Given the description of an element on the screen output the (x, y) to click on. 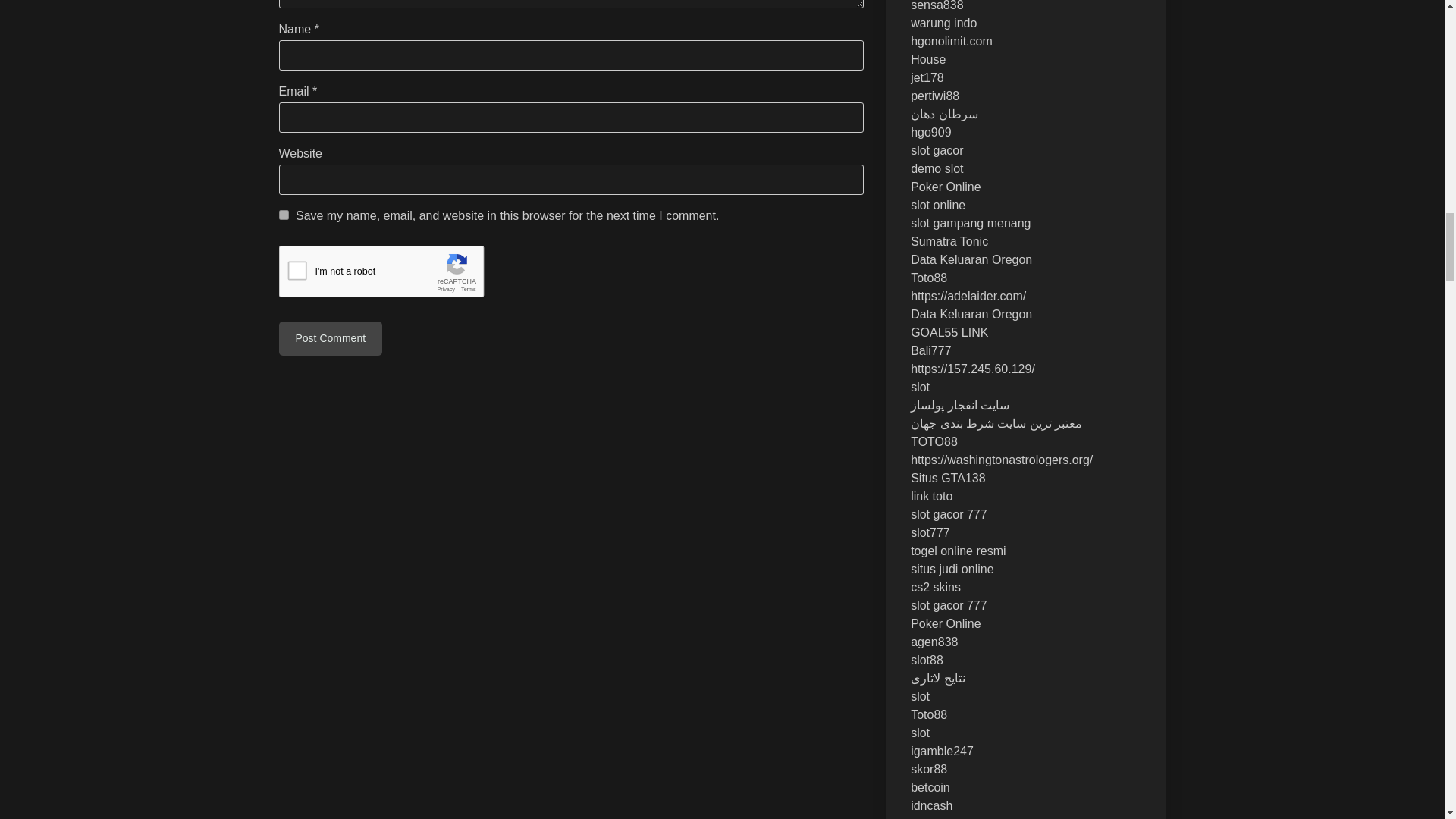
reCAPTCHA (394, 274)
Post Comment (330, 338)
yes (283, 214)
Post Comment (330, 338)
